Given the description of an element on the screen output the (x, y) to click on. 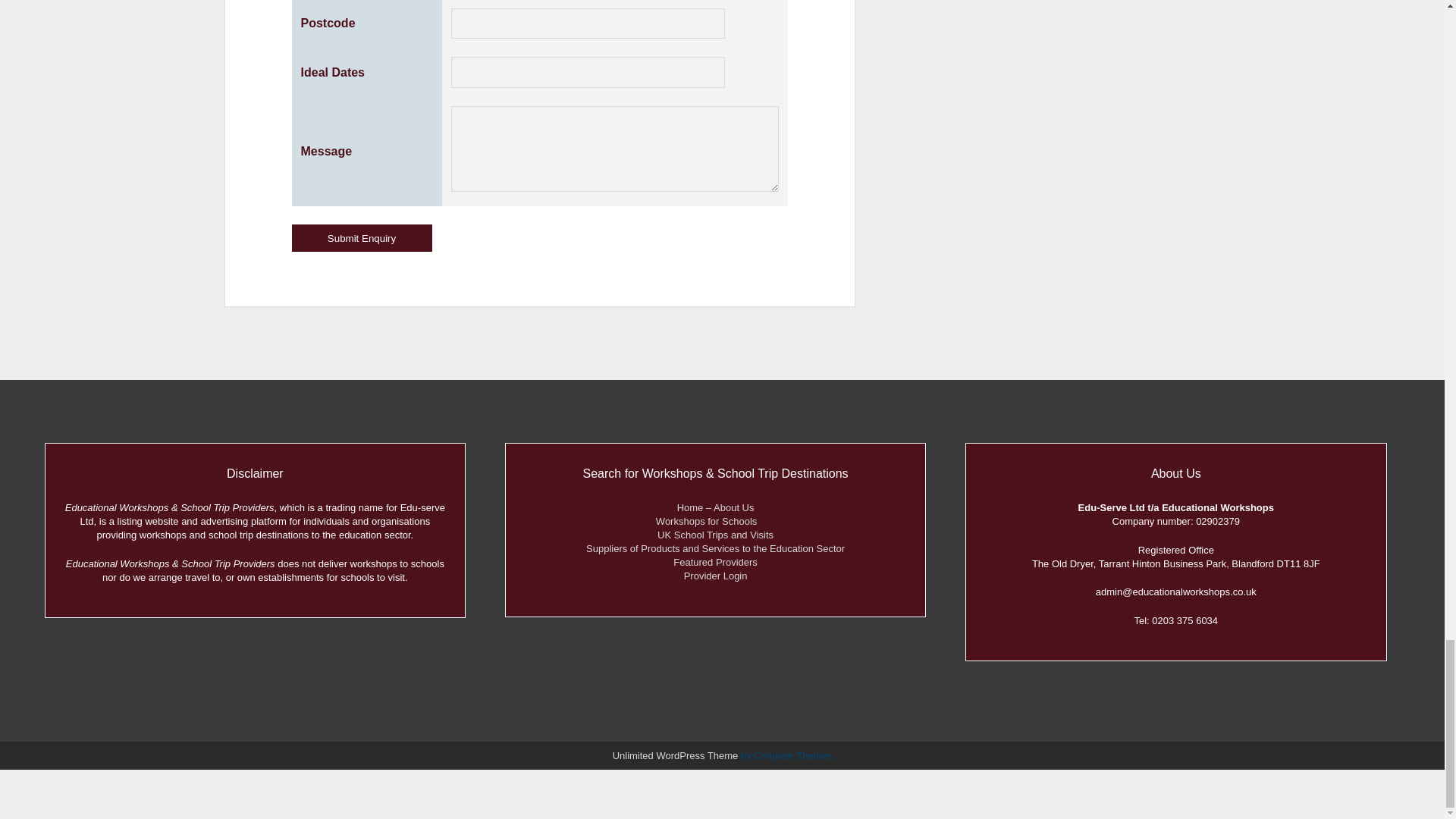
Unlimited WordPress Theme (675, 755)
Suppliers of Products and Services to the Education Sector (715, 548)
Verified by ExactMetrics (722, 791)
Featured Providers (714, 562)
Provider Login (716, 575)
Submit Enquiry (362, 237)
UK School Trips and Visits (715, 534)
Workshops for Schools (715, 521)
